Given the description of an element on the screen output the (x, y) to click on. 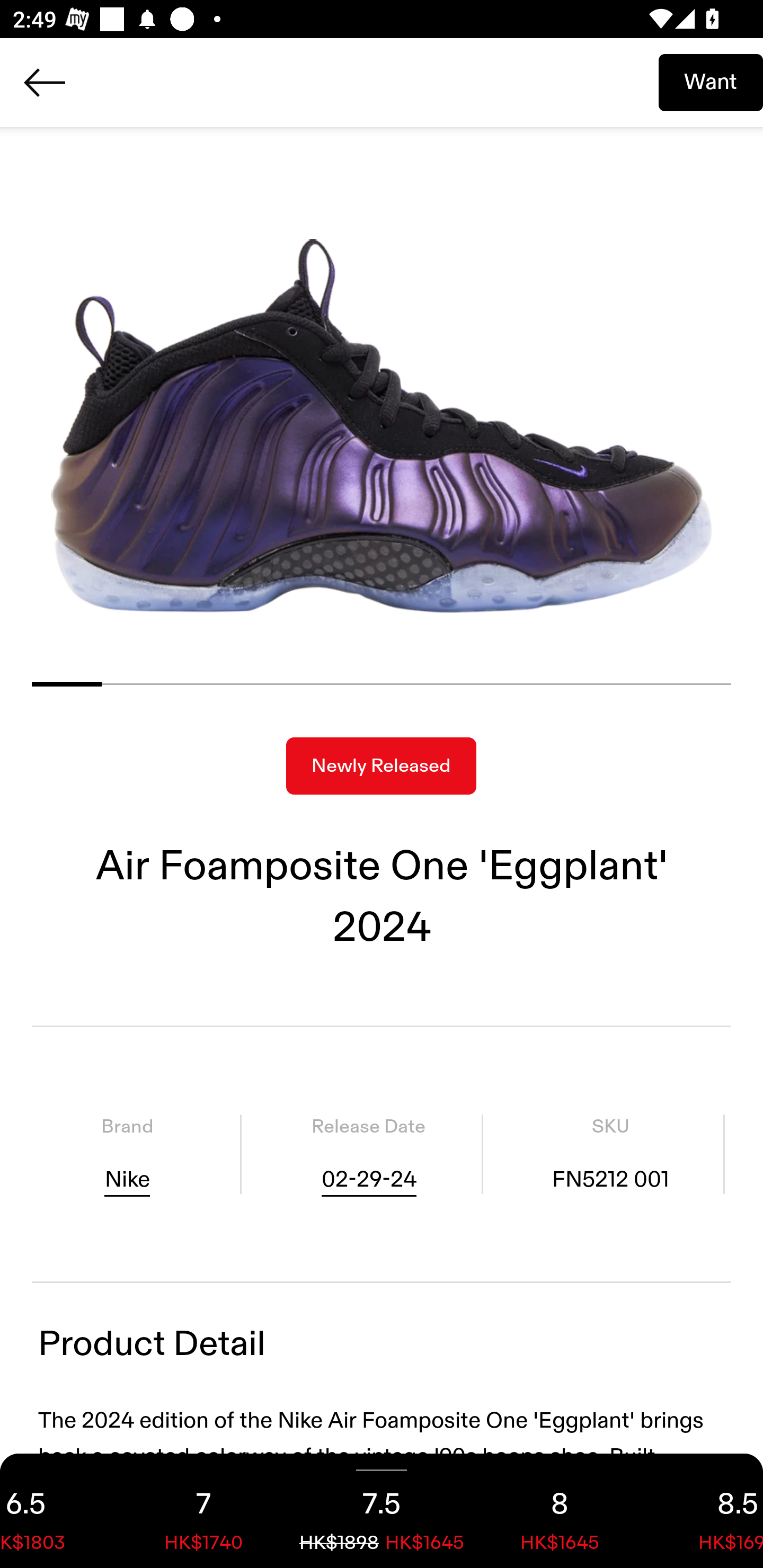
Want (710, 82)
Newly Released (381, 765)
Brand Nike (126, 1153)
Release Date 02-29-24 (368, 1153)
SKU FN5212 001 (609, 1153)
6.5 HK$1803 (57, 1510)
7 HK$1740 (203, 1510)
7.5 HK$1898 HK$1645 (381, 1510)
8 HK$1645 (559, 1510)
8.5 HK$1693 (705, 1510)
